Given the description of an element on the screen output the (x, y) to click on. 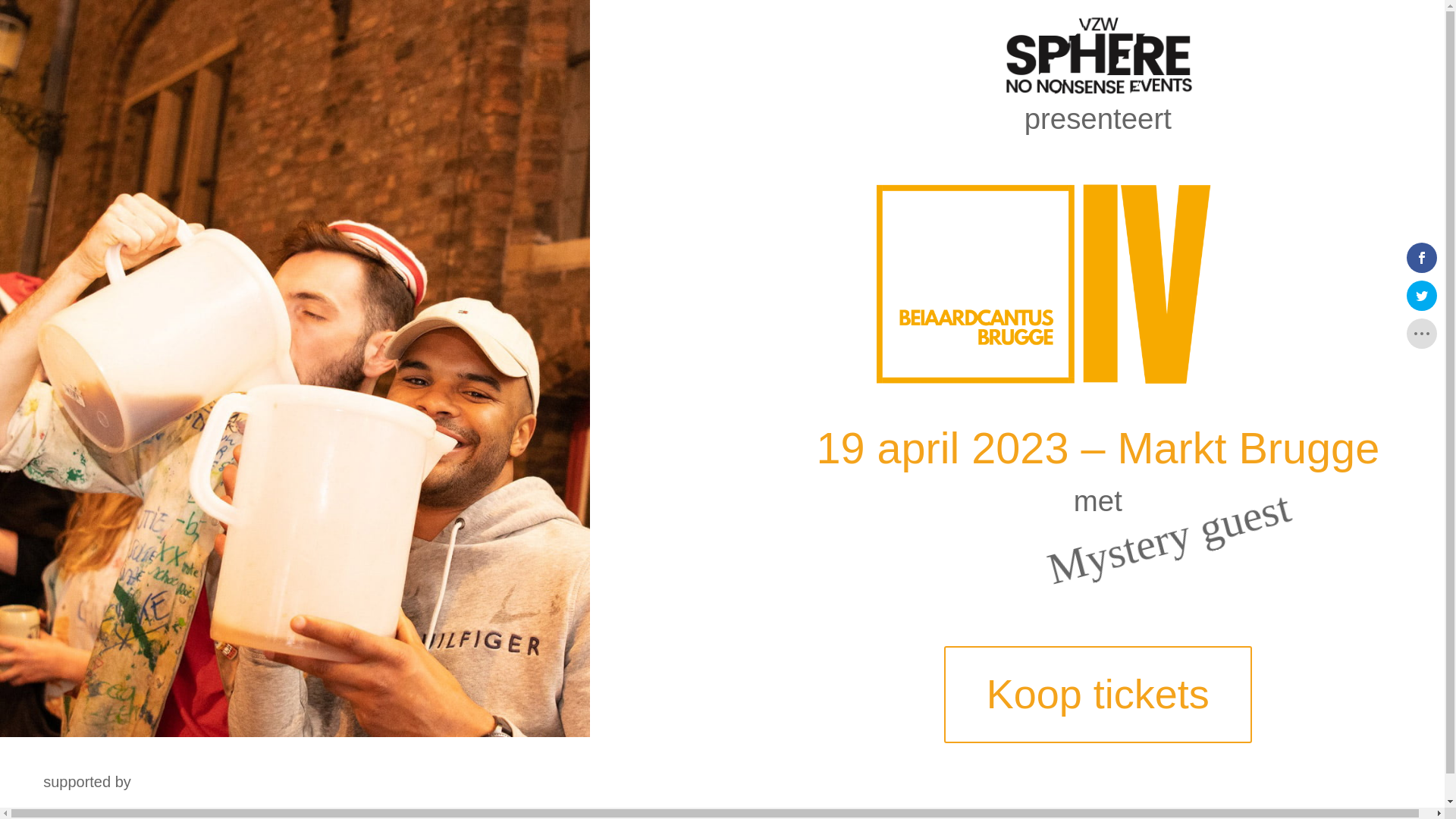
Cantus1 Element type: hover (294, 733)
324124180_5702688026493743_2573093234696911018_n-2 Element type: hover (1097, 283)
SphereTrans Element type: hover (1097, 55)
Koop tickets Element type: text (1098, 694)
